Given the description of an element on the screen output the (x, y) to click on. 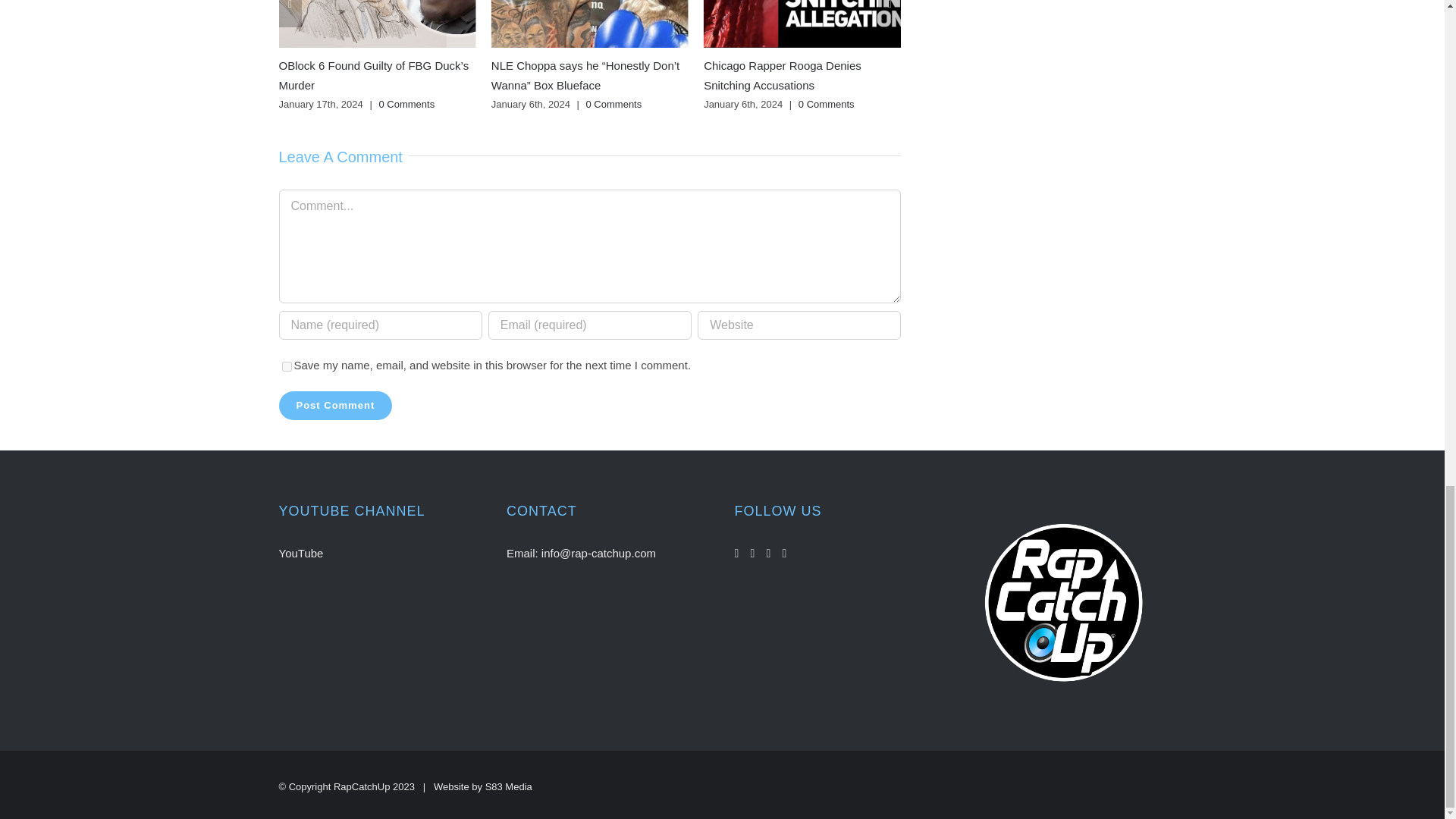
yes (287, 366)
Post Comment (336, 405)
